Given the description of an element on the screen output the (x, y) to click on. 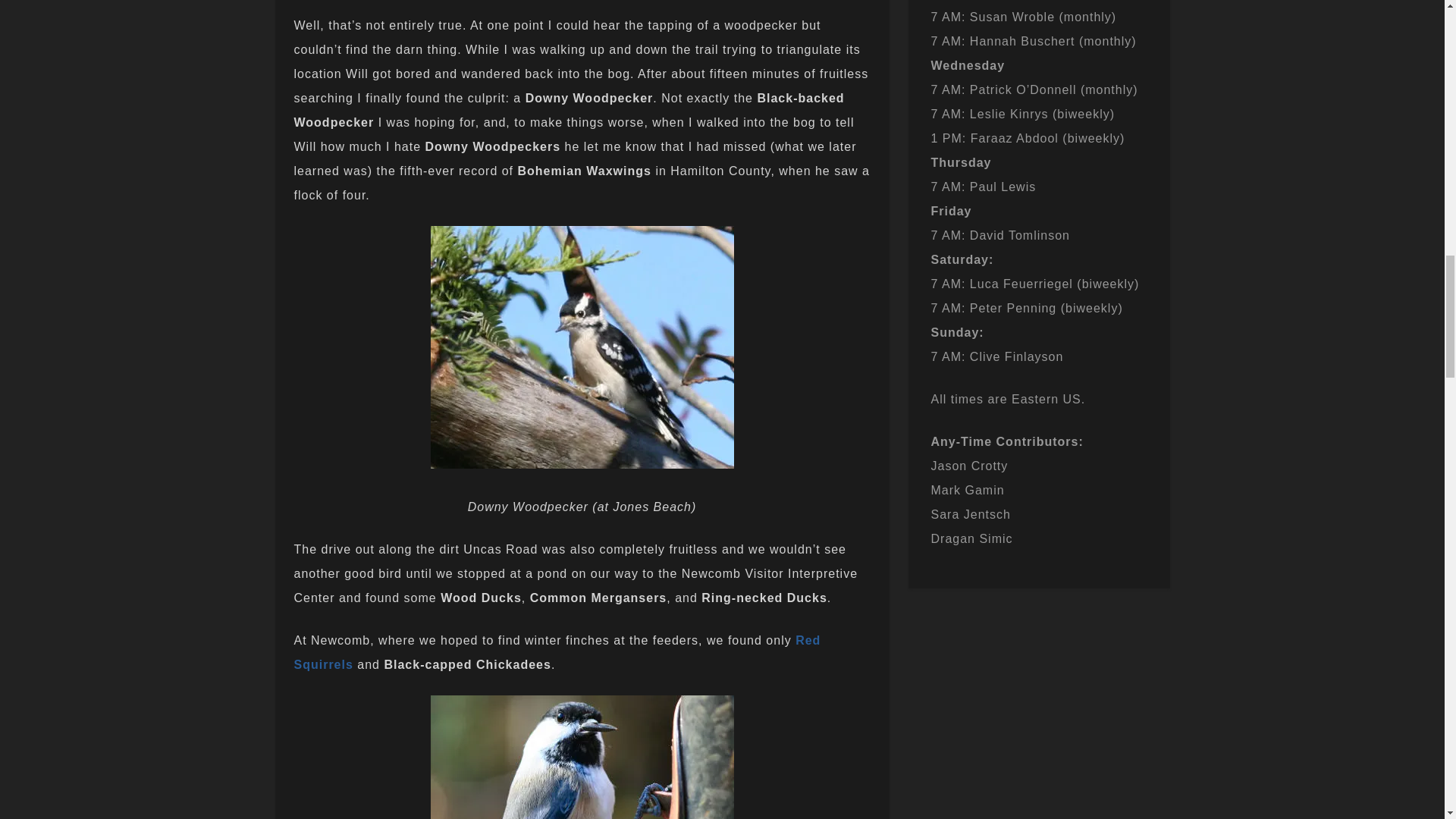
Red Squirrels (557, 651)
North American Red Squirrels (557, 651)
